Given the description of an element on the screen output the (x, y) to click on. 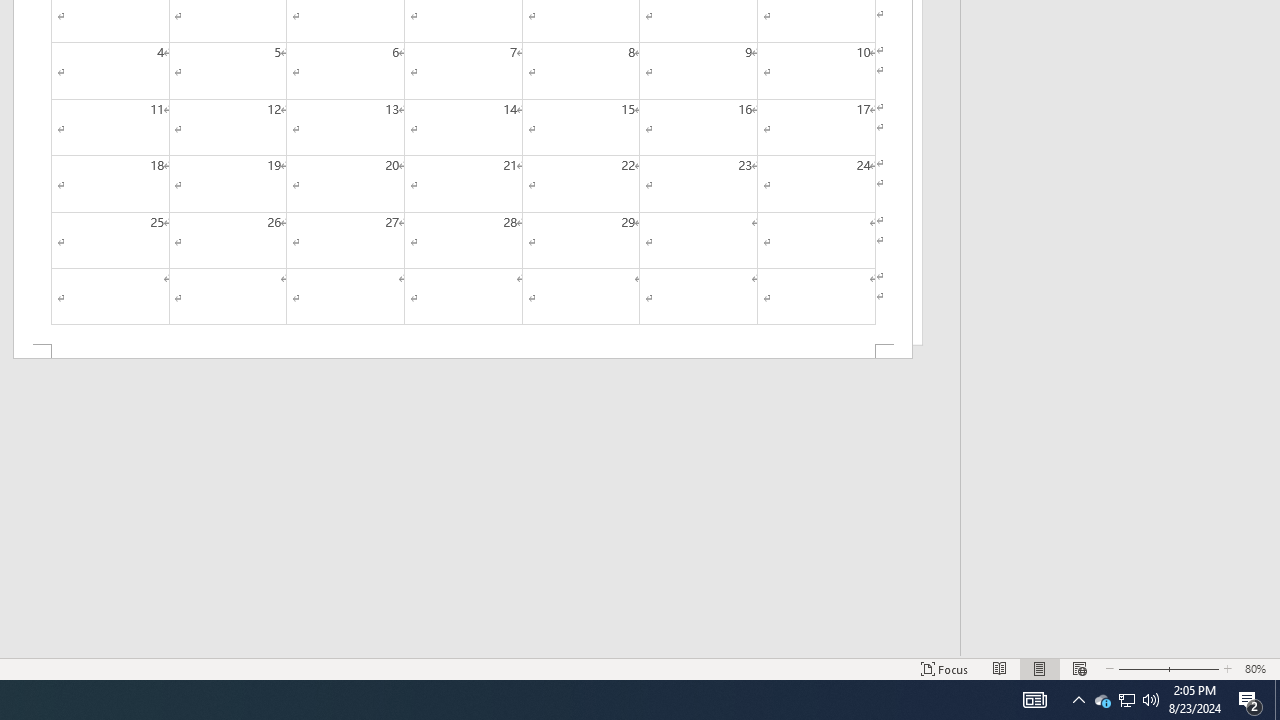
Notification Chevron (1078, 699)
Show desktop (1126, 699)
Action Center, 2 new notifications (1277, 699)
Q2790: 100% (1250, 699)
